Given the description of an element on the screen output the (x, y) to click on. 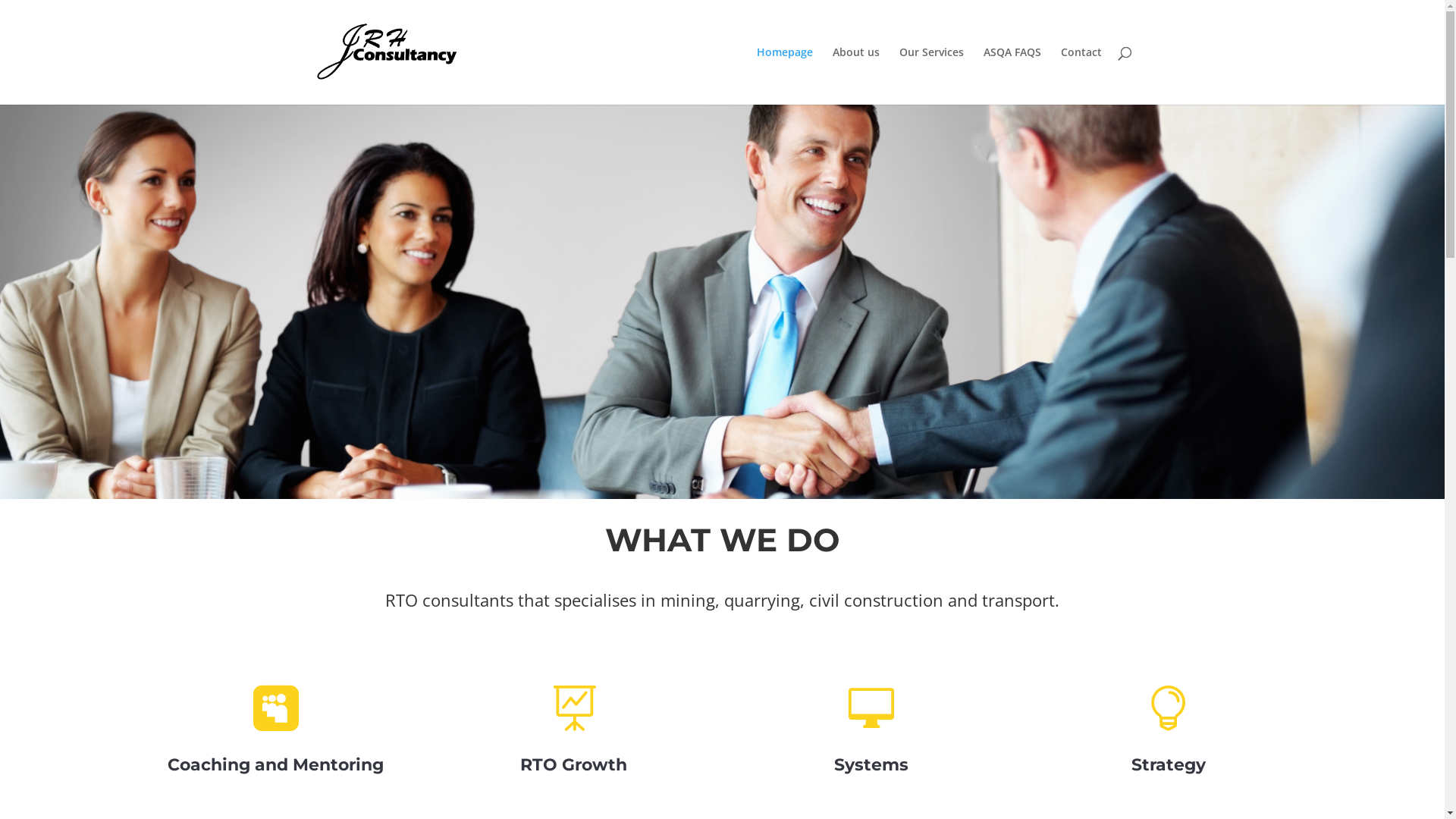
Contact Element type: text (1080, 75)
About us Element type: text (855, 75)
Our Services Element type: text (931, 75)
Homepage Element type: text (784, 75)
ASQA FAQS Element type: text (1011, 75)
